Given the description of an element on the screen output the (x, y) to click on. 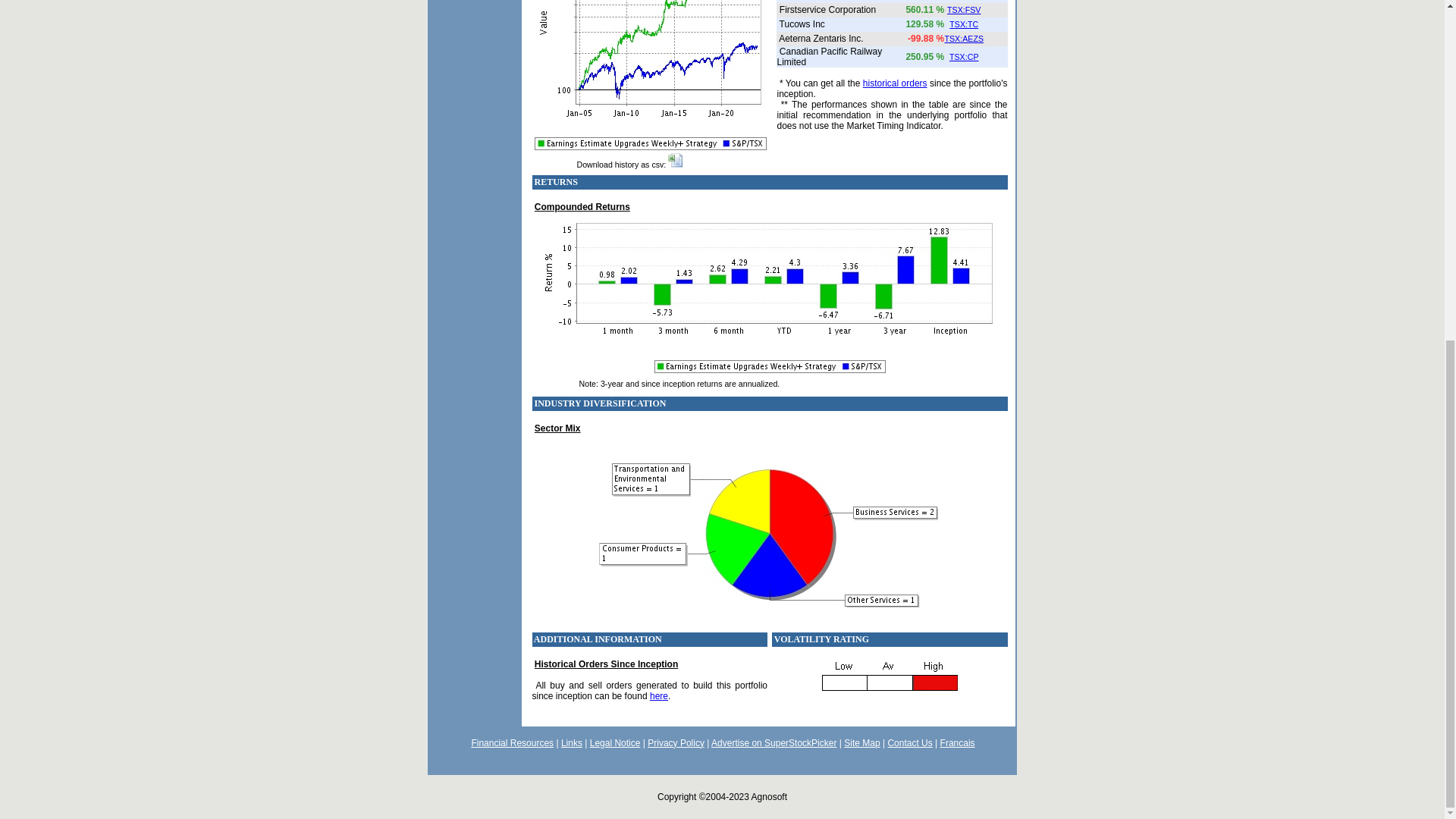
ADDITIONAL INFORMATION (598, 638)
here (658, 696)
historical orders (895, 82)
Advertise on SuperStockPicker (773, 742)
Links (571, 742)
Contact Us (908, 742)
TSX:FSV (963, 9)
TSX:CP (963, 56)
Privacy Policy (675, 742)
Site Map (861, 742)
